Given the description of an element on the screen output the (x, y) to click on. 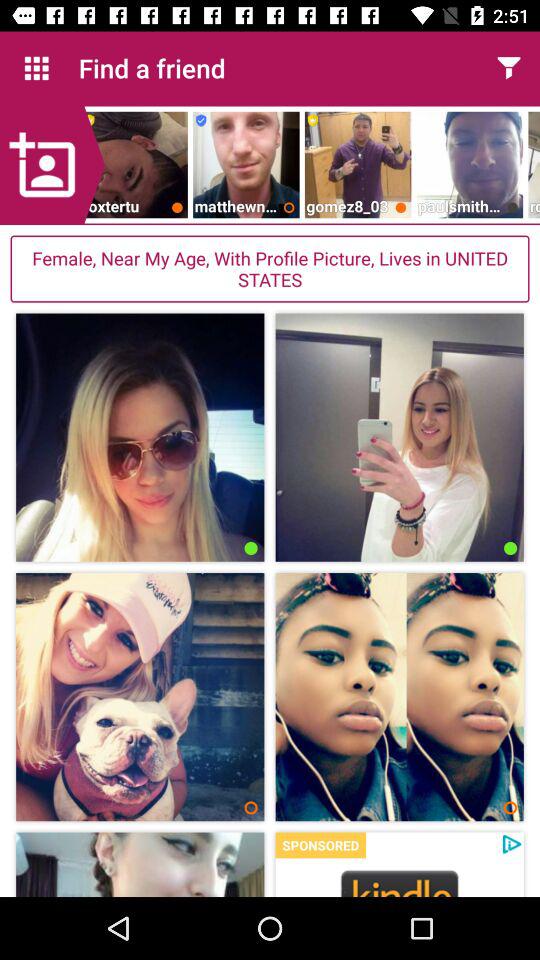
click sponsored profile (399, 882)
